Given the description of an element on the screen output the (x, y) to click on. 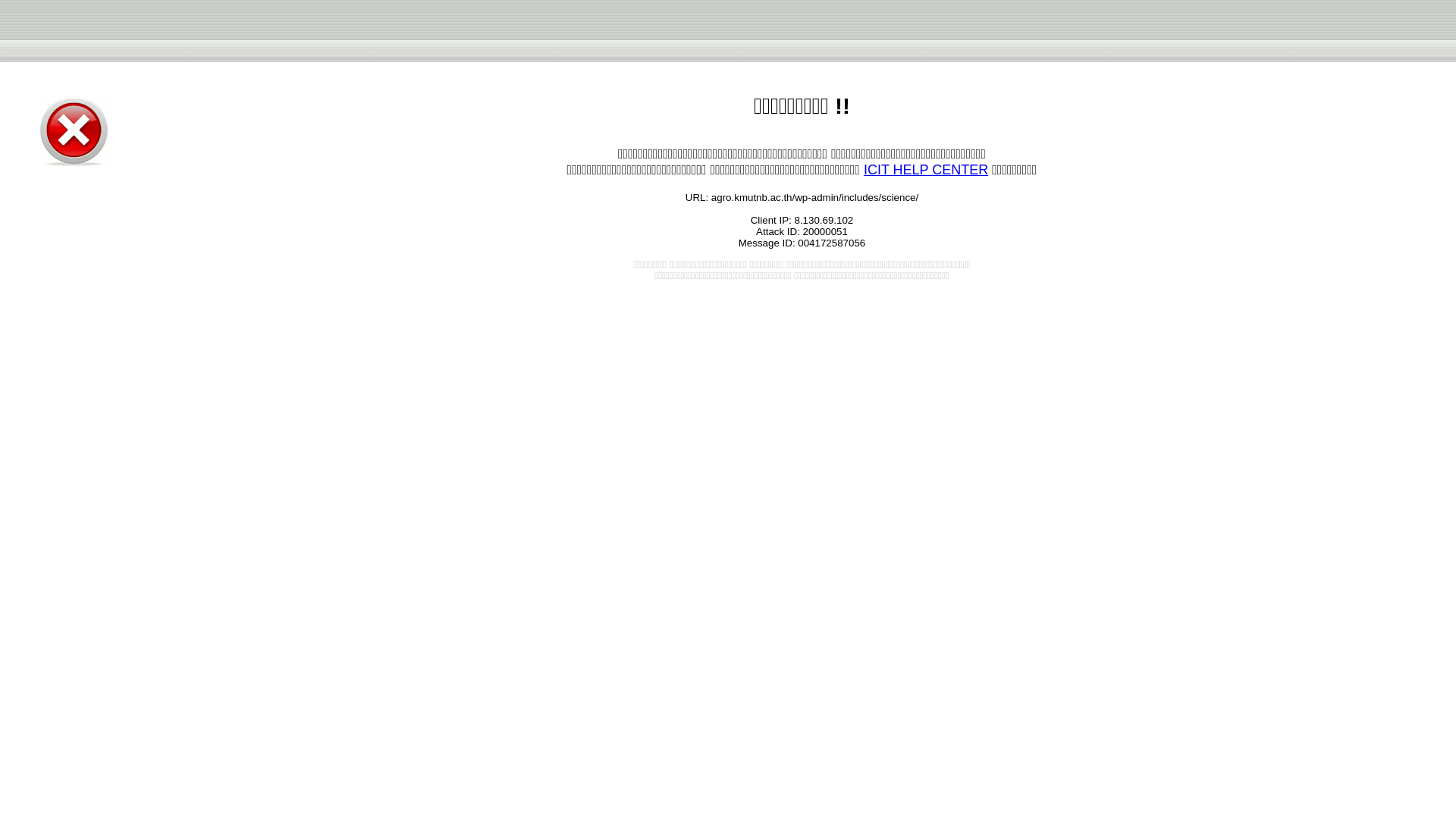
ICIT HELP CENTER (925, 169)
